Given the description of an element on the screen output the (x, y) to click on. 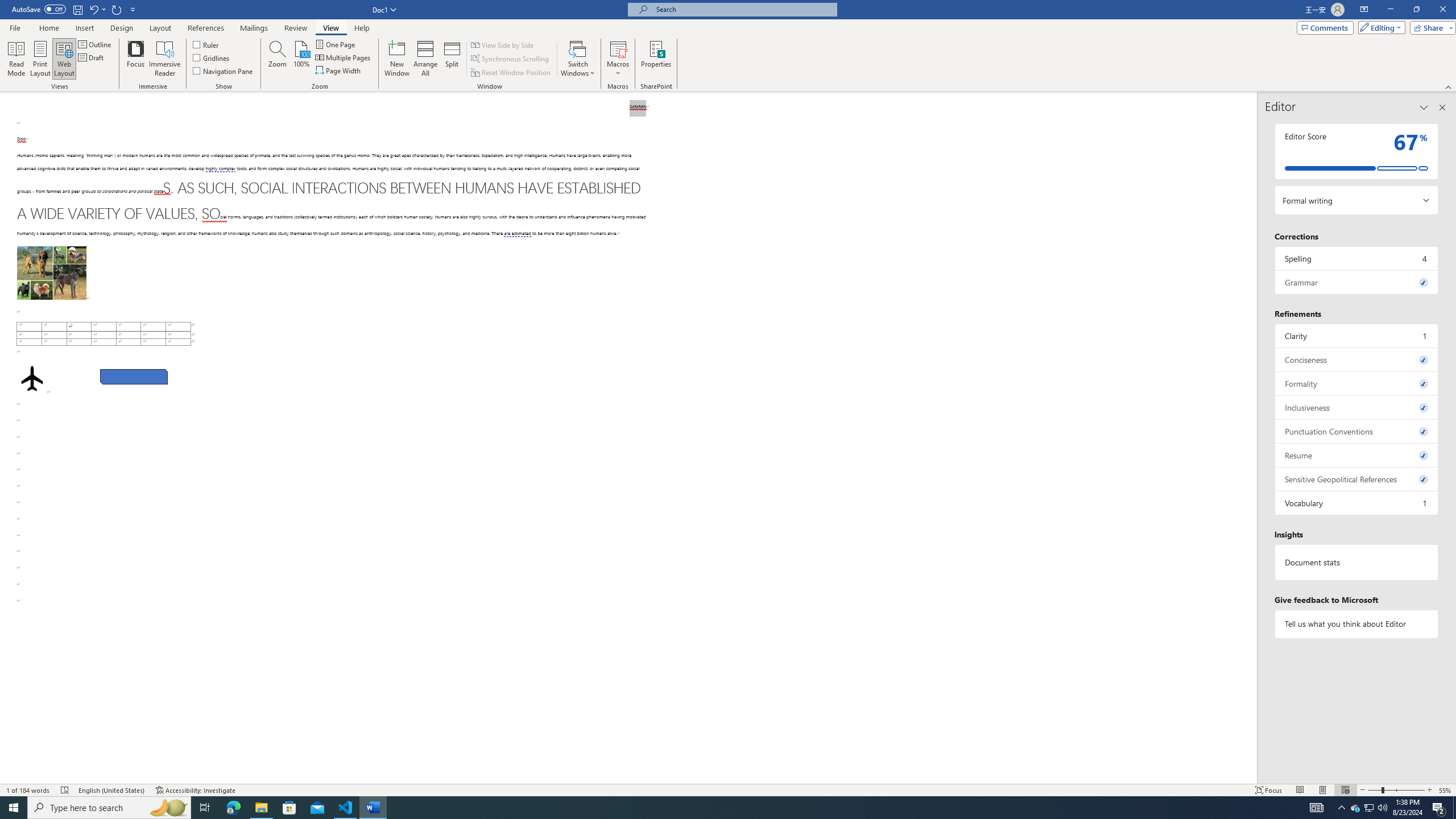
Navigation Pane (223, 69)
Vocabulary, 1 issue. Press space or enter to review items. (1356, 502)
Editor Score 67% (1356, 151)
Zoom... (276, 58)
Macros (617, 58)
Properties (655, 58)
Undo Paragraph Alignment (96, 9)
